Given the description of an element on the screen output the (x, y) to click on. 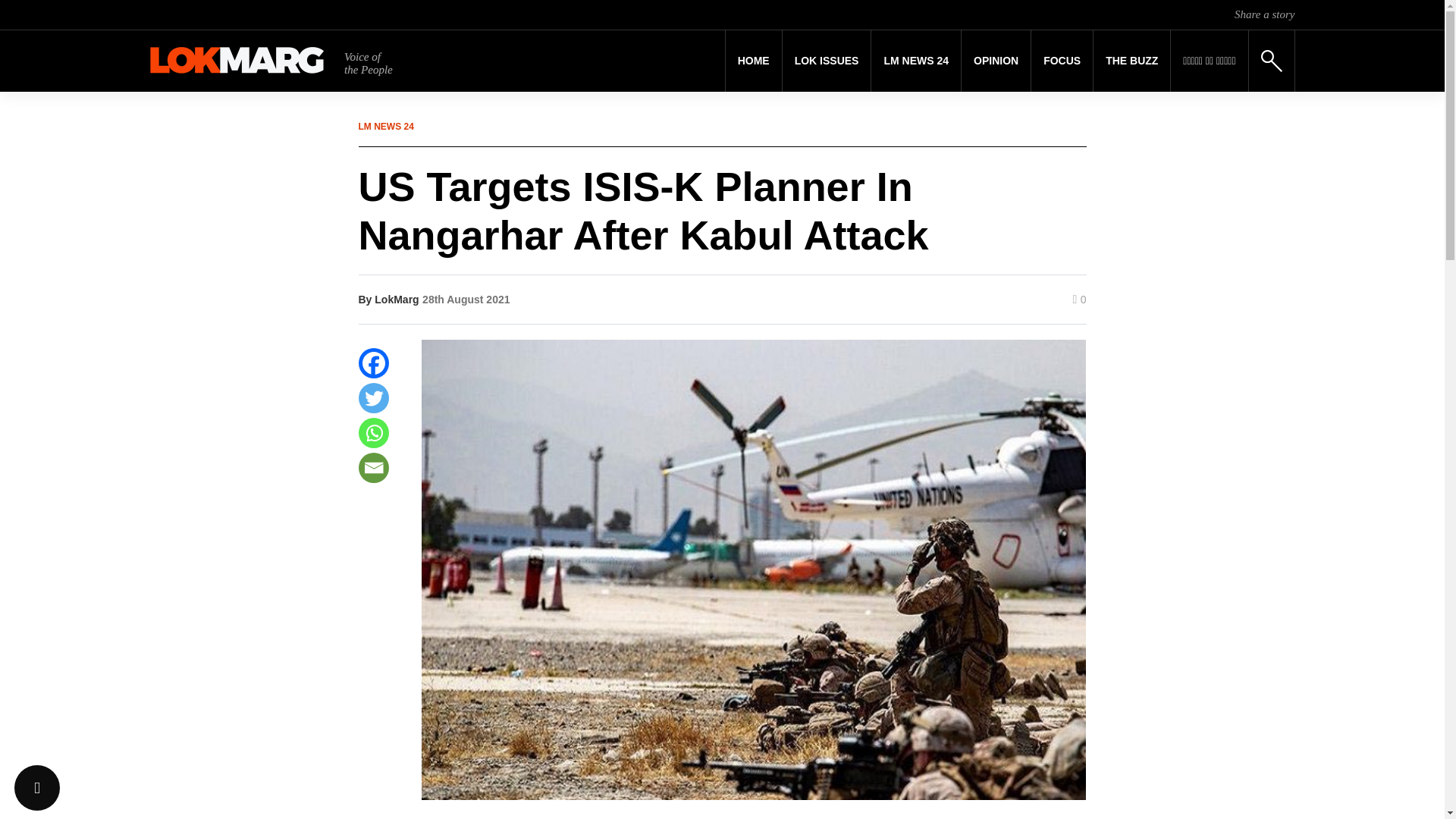
Whatsapp (373, 432)
OPINION (995, 60)
Opinion (995, 60)
THE BUZZ (1131, 60)
Home (753, 60)
LM NEWS 24 (915, 60)
LOK ISSUES (826, 60)
Focus (1061, 60)
FOCUS (1061, 60)
Facebook (373, 363)
